Given the description of an element on the screen output the (x, y) to click on. 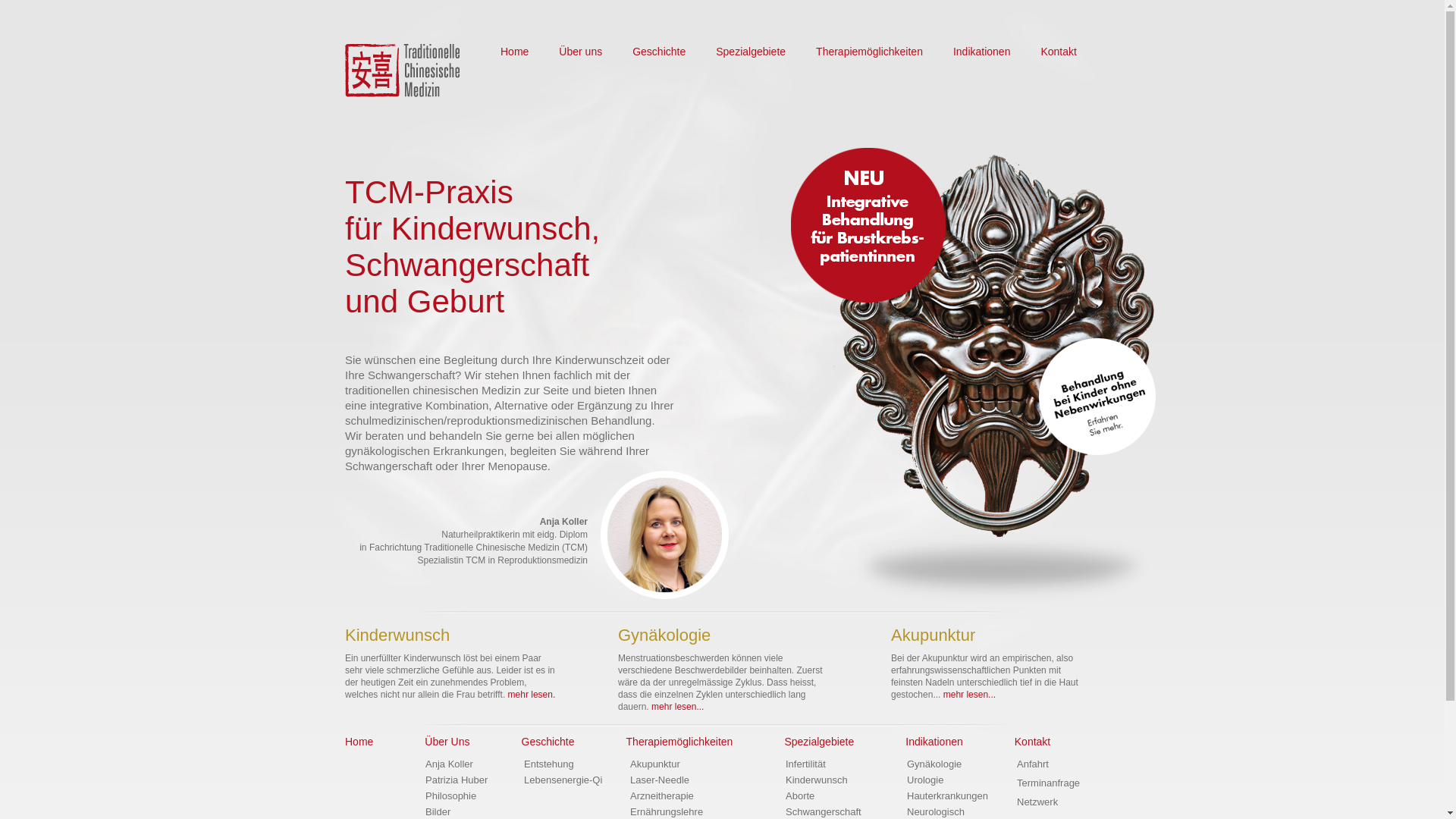
Home Element type: text (359, 741)
Spezialgebiete Element type: text (750, 51)
Terminanfrage Element type: text (1047, 782)
Netzwerk Element type: text (1036, 801)
Home Element type: text (514, 51)
Bilder Element type: text (437, 811)
mehr lesen... Element type: text (969, 694)
Arzneitherapie Element type: text (661, 795)
Laser-Needle Element type: text (659, 779)
Geschichte Element type: text (658, 51)
Anfahrt Element type: text (1032, 763)
Entstehung Element type: text (549, 763)
Hauterkrankungen Element type: text (947, 795)
Philosophie Element type: text (450, 795)
Akupunktur Element type: text (655, 763)
Patrizia Huber Element type: text (456, 779)
Kinderwunsch Element type: text (816, 779)
Aborte Element type: text (799, 795)
Schwangerschaft Element type: text (823, 811)
Urologie Element type: text (924, 779)
Kontakt Element type: text (1058, 51)
Anja Koller Element type: text (449, 763)
Neurologisch Element type: text (935, 811)
mehr lesen... Element type: text (677, 706)
mehr lesen. Element type: text (531, 694)
Indikationen Element type: text (981, 51)
Lebensenergie-Qi Element type: text (563, 779)
